Given the description of an element on the screen output the (x, y) to click on. 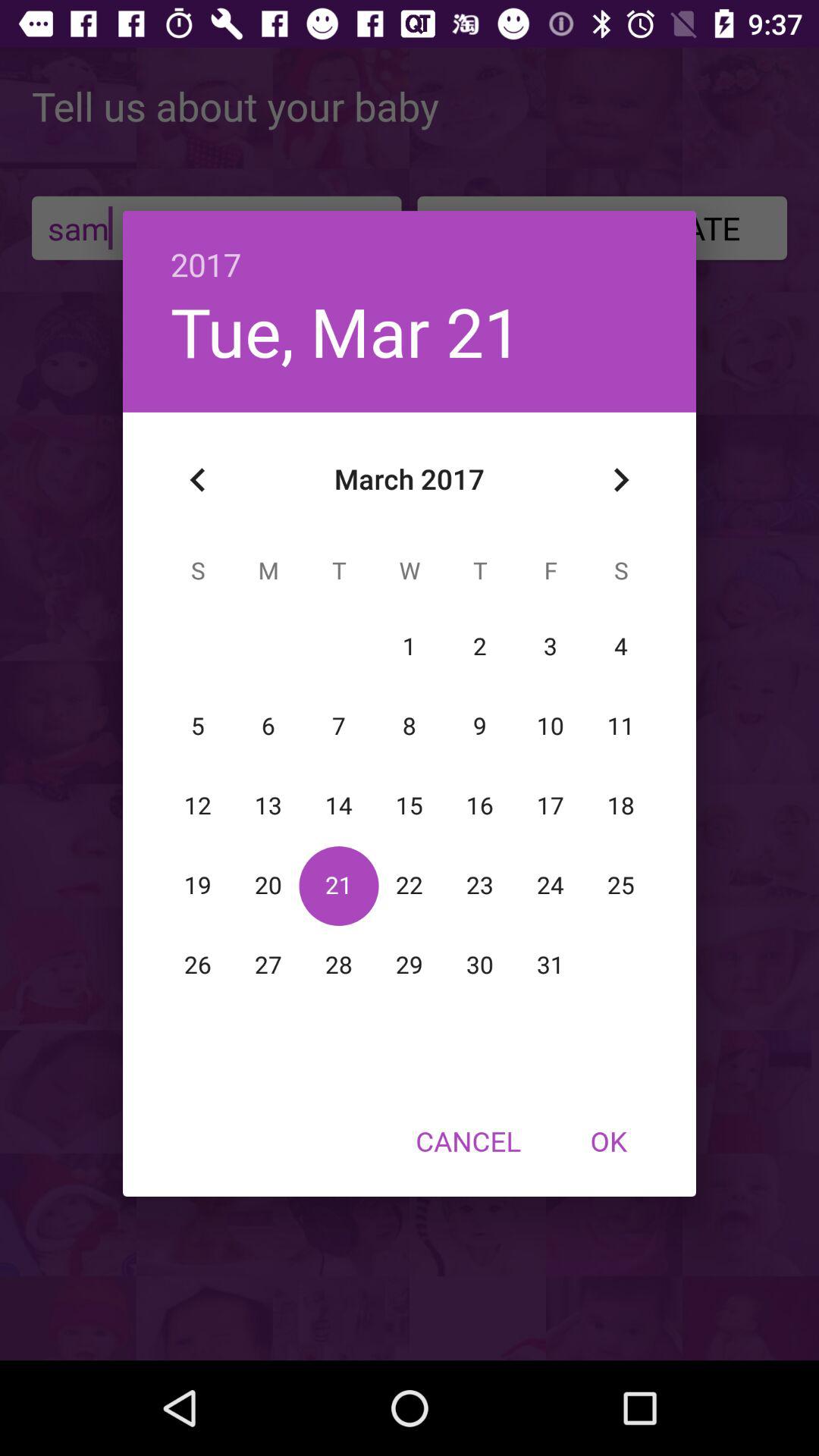
choose the item to the left of the ok item (467, 1140)
